Given the description of an element on the screen output the (x, y) to click on. 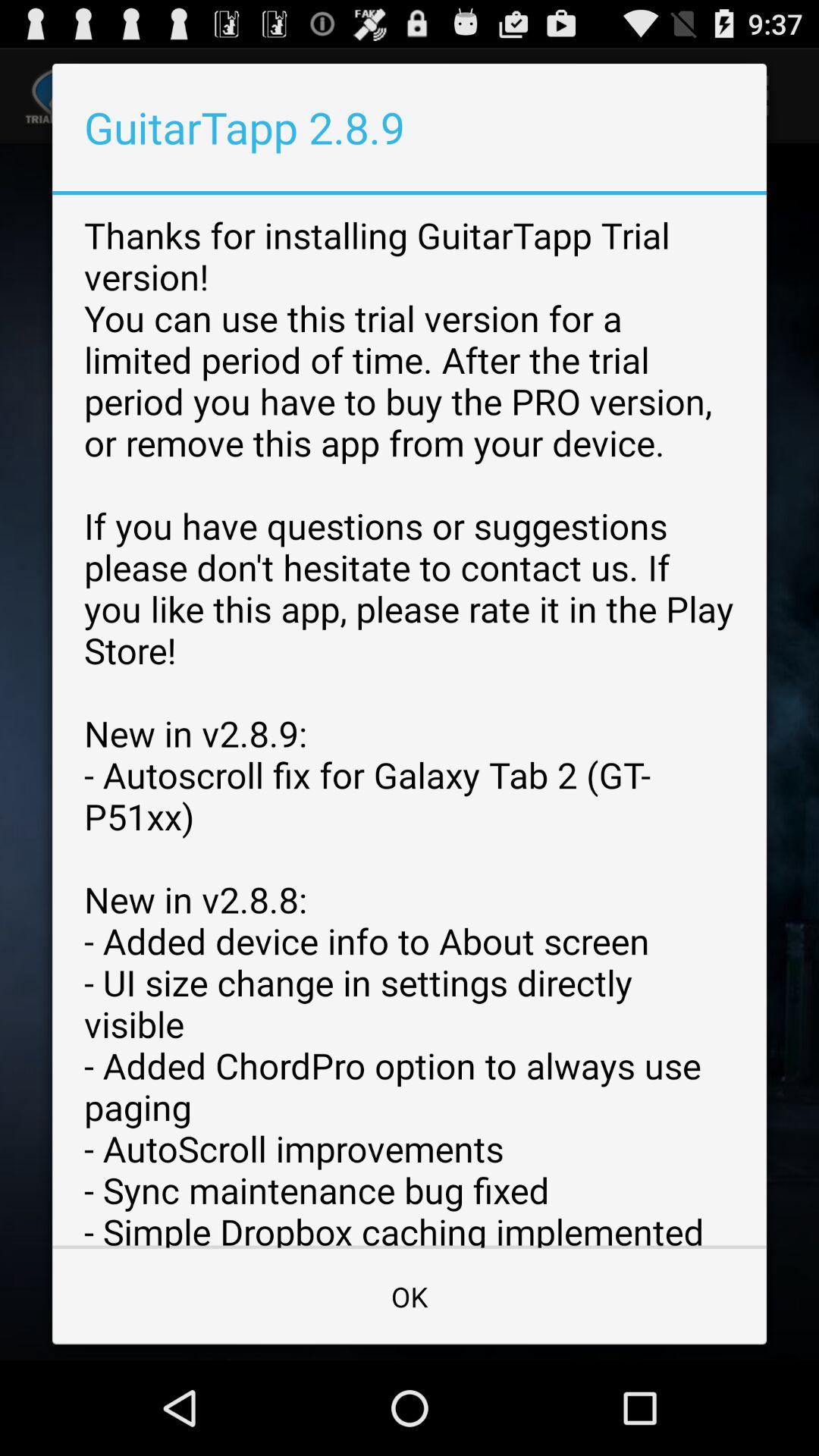
launch the item below thanks for installing icon (409, 1296)
